Given the description of an element on the screen output the (x, y) to click on. 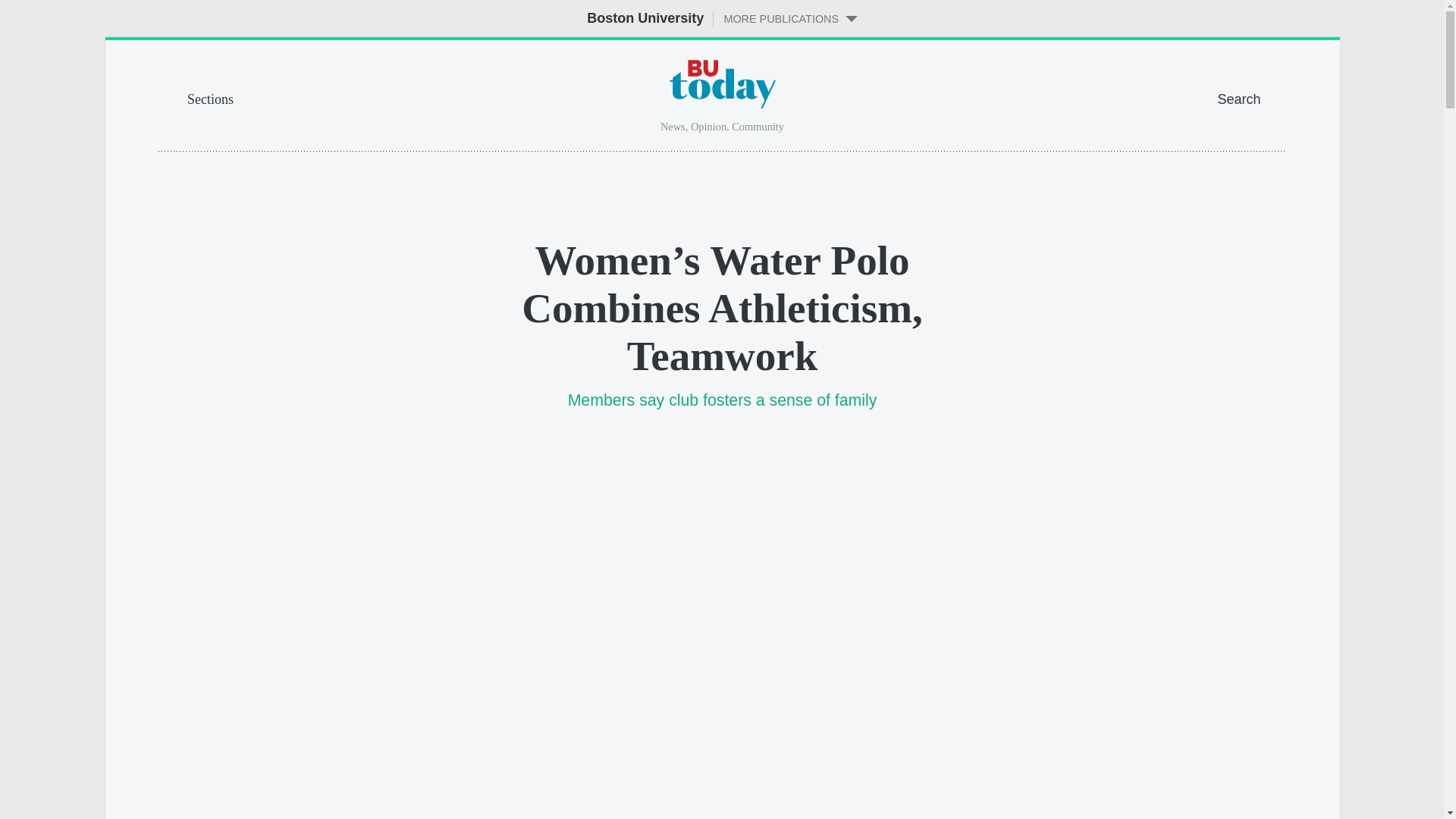
MORE PUBLICATIONS (785, 18)
Boston University (644, 18)
Search (1251, 96)
Sections (298, 96)
